Given the description of an element on the screen output the (x, y) to click on. 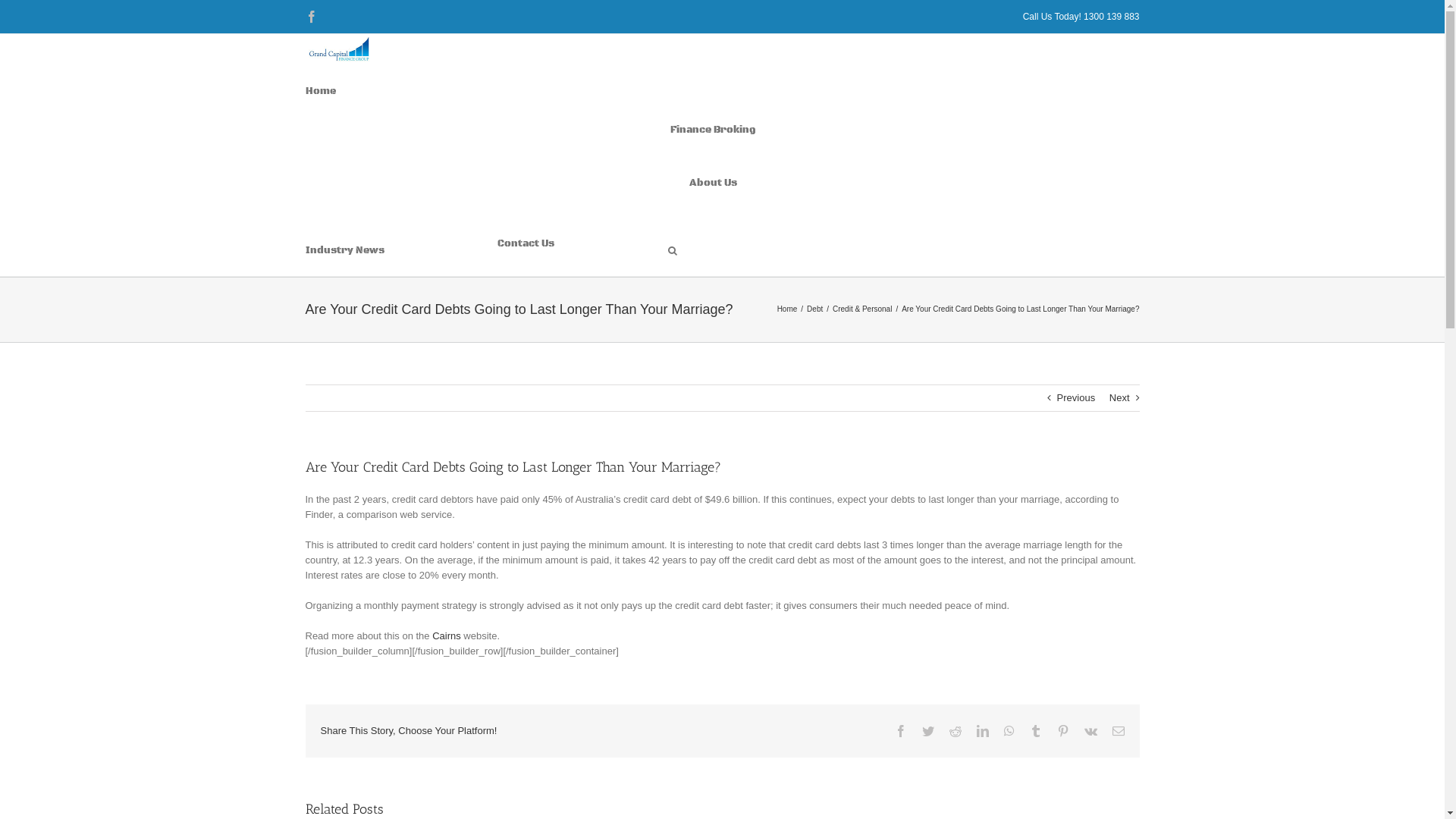
Tumblr Element type: text (1035, 730)
Reddit Element type: text (955, 730)
WhatsApp Element type: text (1009, 730)
Debt Element type: text (814, 308)
Twitter Element type: text (928, 730)
Facebook Element type: text (900, 730)
LinkedIn Element type: text (982, 730)
Vk Element type: text (1090, 730)
Next Element type: text (1119, 398)
Home Element type: text (787, 308)
Email Element type: text (1117, 730)
Search Element type: hover (672, 249)
Cairns Element type: text (446, 635)
Previous Element type: text (1076, 398)
Pinterest Element type: text (1063, 730)
Home Element type: text (319, 89)
Credit & Personal Element type: text (861, 308)
Facebook Element type: text (310, 16)
Industry News Element type: text (343, 249)
